Given the description of an element on the screen output the (x, y) to click on. 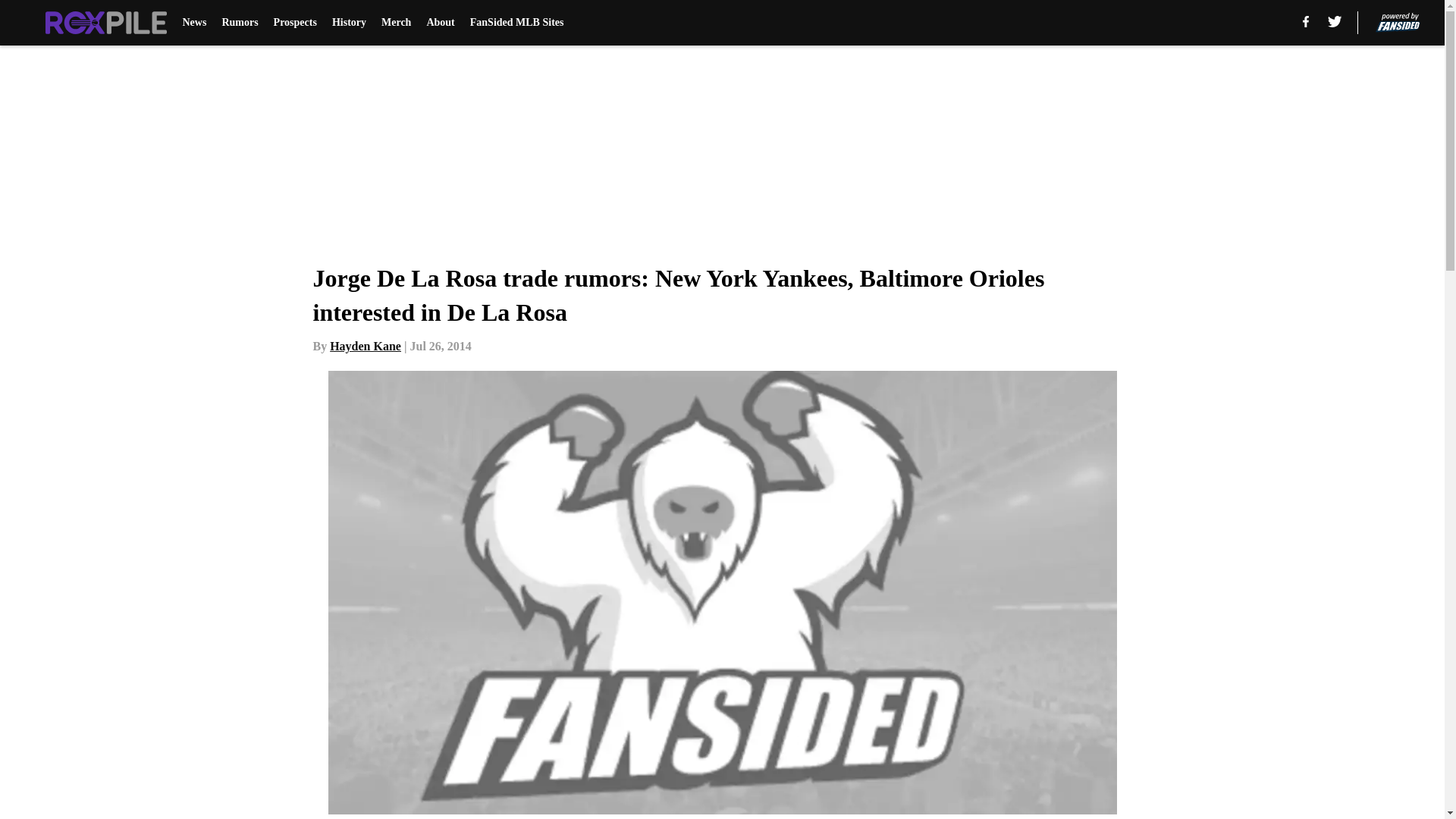
Rumors (239, 22)
Merch (395, 22)
About (440, 22)
News (194, 22)
Hayden Kane (365, 345)
FanSided MLB Sites (517, 22)
Prospects (295, 22)
History (348, 22)
